Given the description of an element on the screen output the (x, y) to click on. 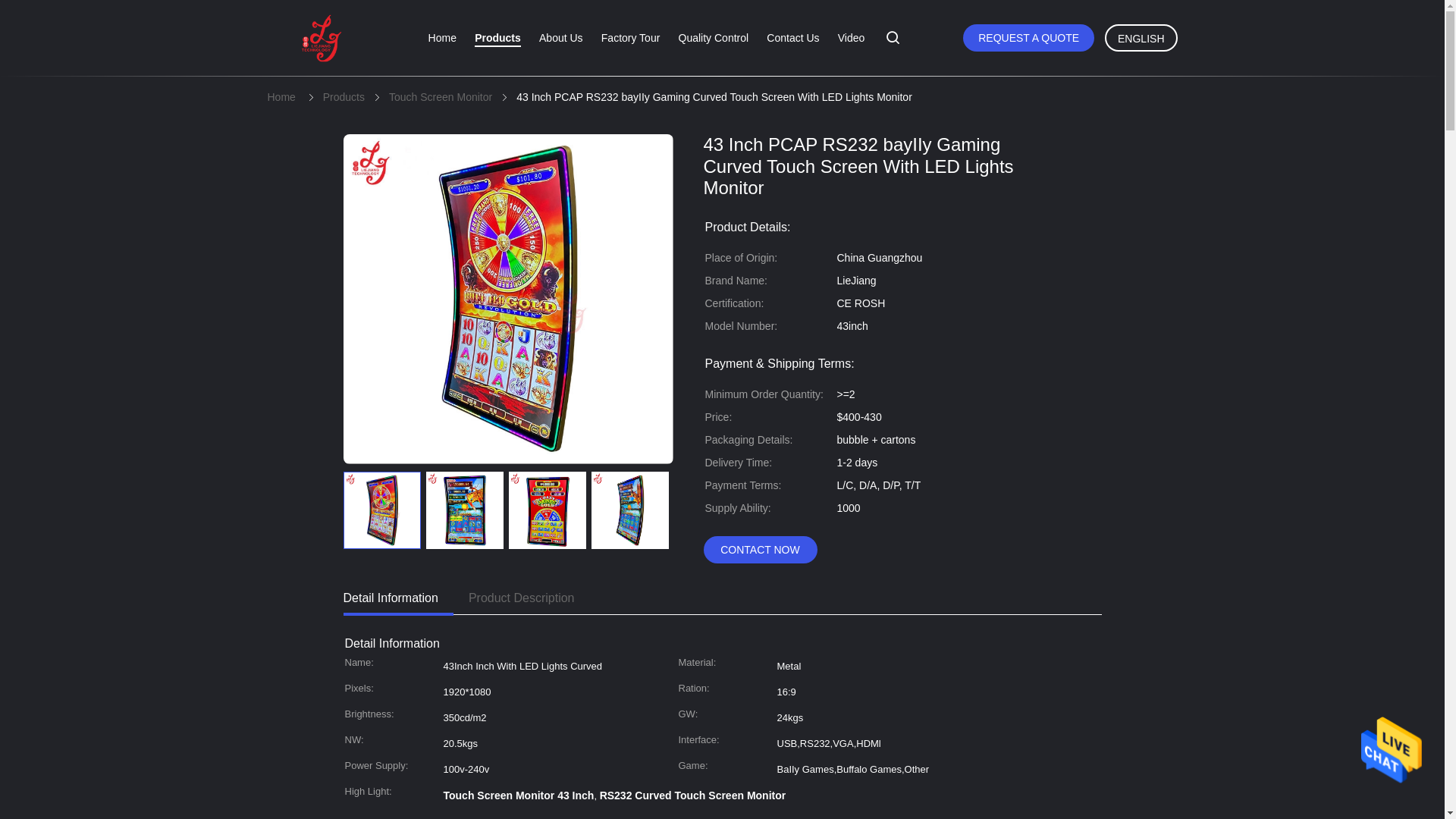
Video (851, 37)
ENGLISH (1140, 37)
REQUEST A QUOTE (1028, 37)
Home (442, 37)
Products (344, 96)
About Us (560, 37)
Quality Control (713, 37)
Products (497, 37)
Contact Us (792, 37)
Touch Screen Monitor (440, 96)
